Given the description of an element on the screen output the (x, y) to click on. 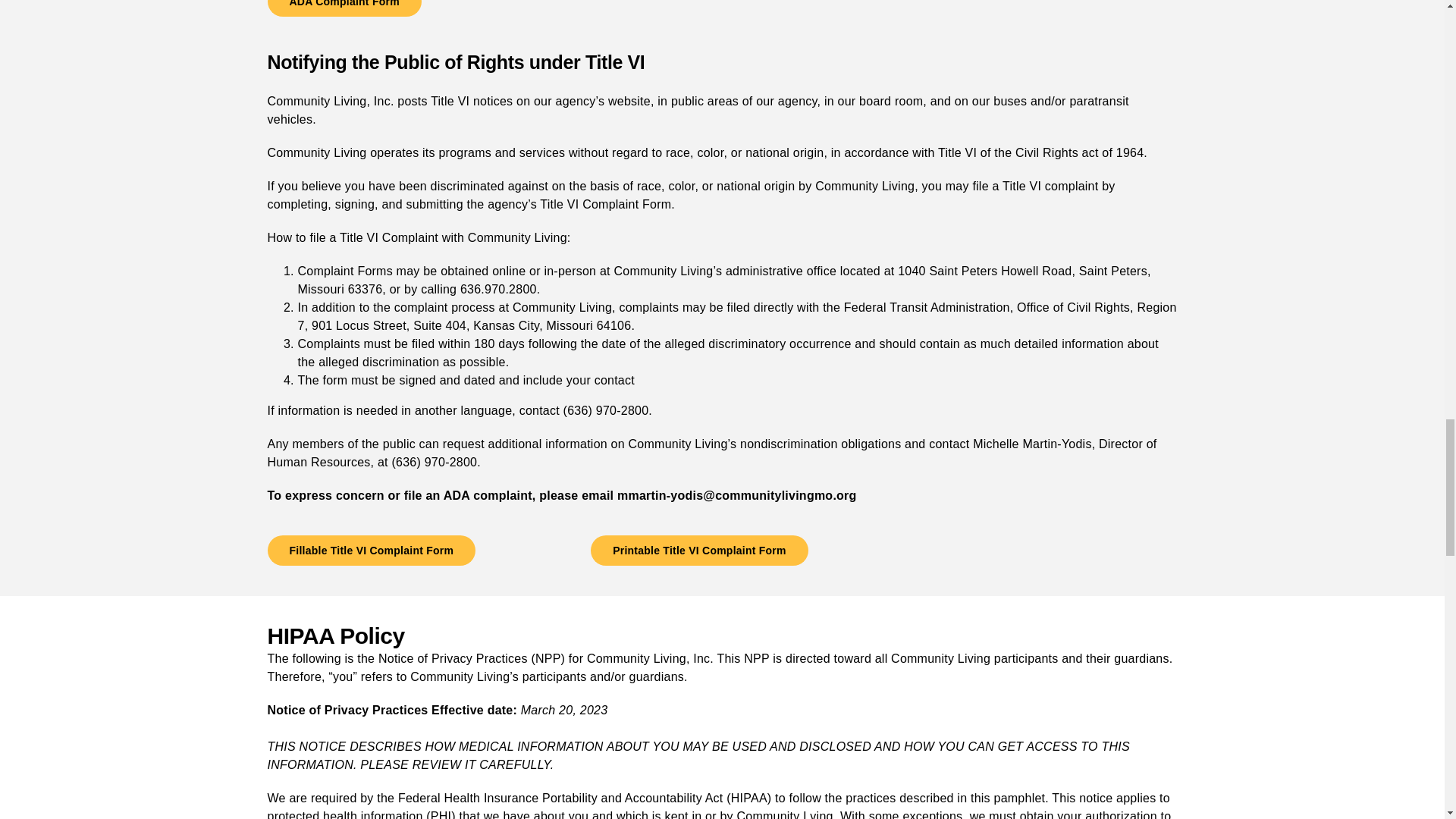
ADA Complaint Form (343, 8)
